Given the description of an element on the screen output the (x, y) to click on. 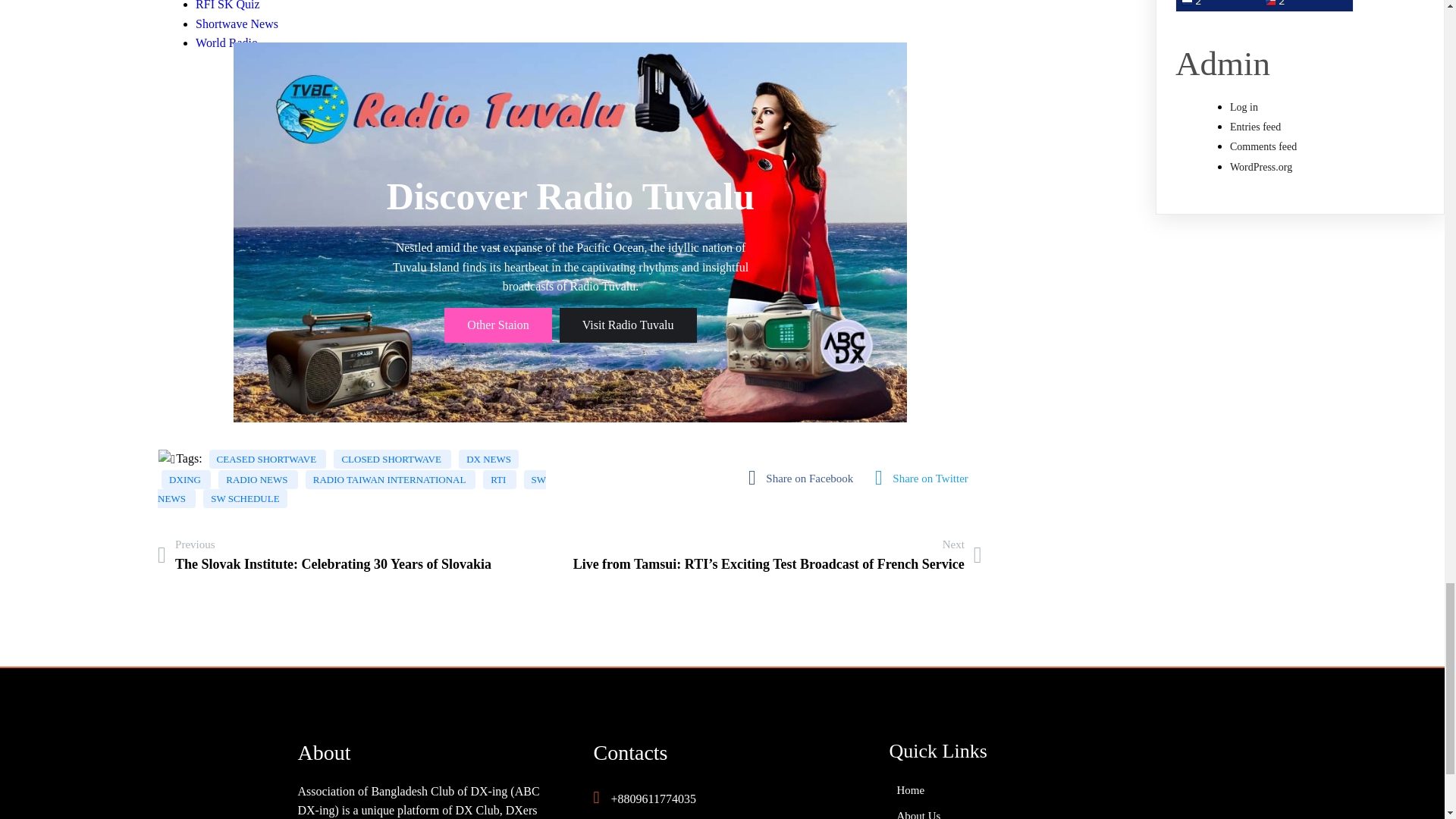
CEASED SHORTWAVE (267, 458)
DXING (186, 479)
Other Staion (497, 325)
fab fa-facebook-square (804, 478)
fab fa-twitter-square (925, 478)
RTI (499, 479)
Visit Radio Tuvalu (628, 325)
DX NEWS (488, 458)
RFI SK Quiz (227, 5)
Shortwave News (236, 23)
CLOSED SHORTWAVE (392, 458)
RADIO NEWS (258, 479)
RADIO TAIWAN INTERNATIONAL (390, 479)
SW NEWS (351, 489)
World Radio (226, 42)
